Given the description of an element on the screen output the (x, y) to click on. 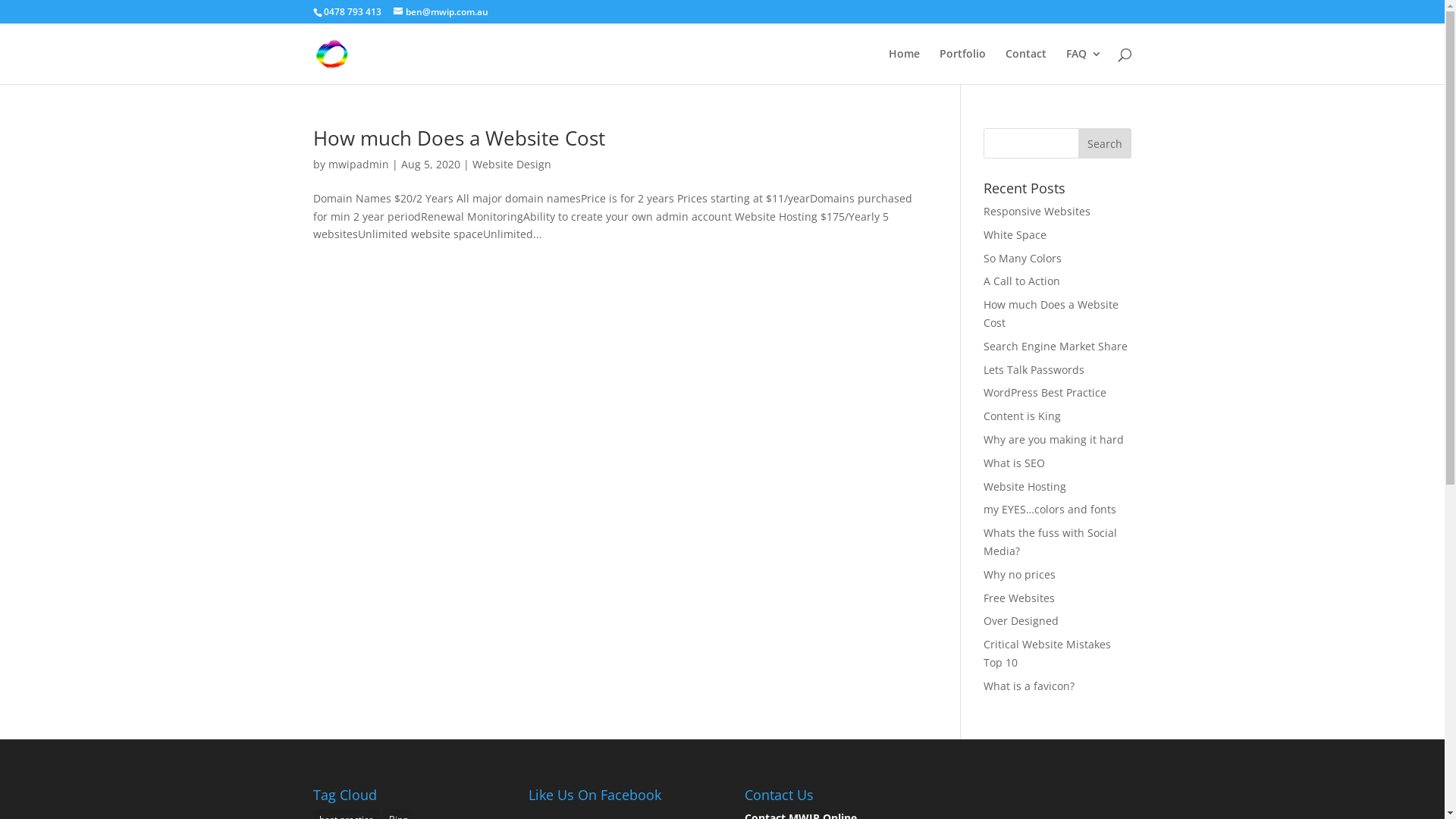
WordPress Best Practice Element type: text (1044, 392)
So Many Colors Element type: text (1022, 258)
Search Engine Market Share Element type: text (1055, 345)
Website Design Element type: text (510, 163)
Why are you making it hard Element type: text (1053, 439)
Search Element type: text (1104, 143)
What is SEO Element type: text (1013, 462)
Contact Element type: text (1025, 66)
Website Hosting Element type: text (1024, 486)
ben@mwip.com.au Element type: text (439, 11)
FAQ Element type: text (1083, 66)
A Call to Action Element type: text (1021, 280)
Whats the fuss with Social Media? Element type: text (1050, 541)
White Space Element type: text (1014, 234)
How much Does a Website Cost Element type: text (458, 137)
Critical Website Mistakes Top 10 Element type: text (1046, 653)
mwipadmin Element type: text (357, 163)
What is a favicon? Element type: text (1028, 685)
Why no prices Element type: text (1019, 574)
How much Does a Website Cost Element type: text (1050, 313)
Content is King Element type: text (1021, 415)
Over Designed Element type: text (1020, 620)
Lets Talk Passwords Element type: text (1033, 369)
Responsive Websites Element type: text (1036, 210)
Free Websites Element type: text (1018, 597)
Home Element type: text (903, 66)
Portfolio Element type: text (961, 66)
